Given the description of an element on the screen output the (x, y) to click on. 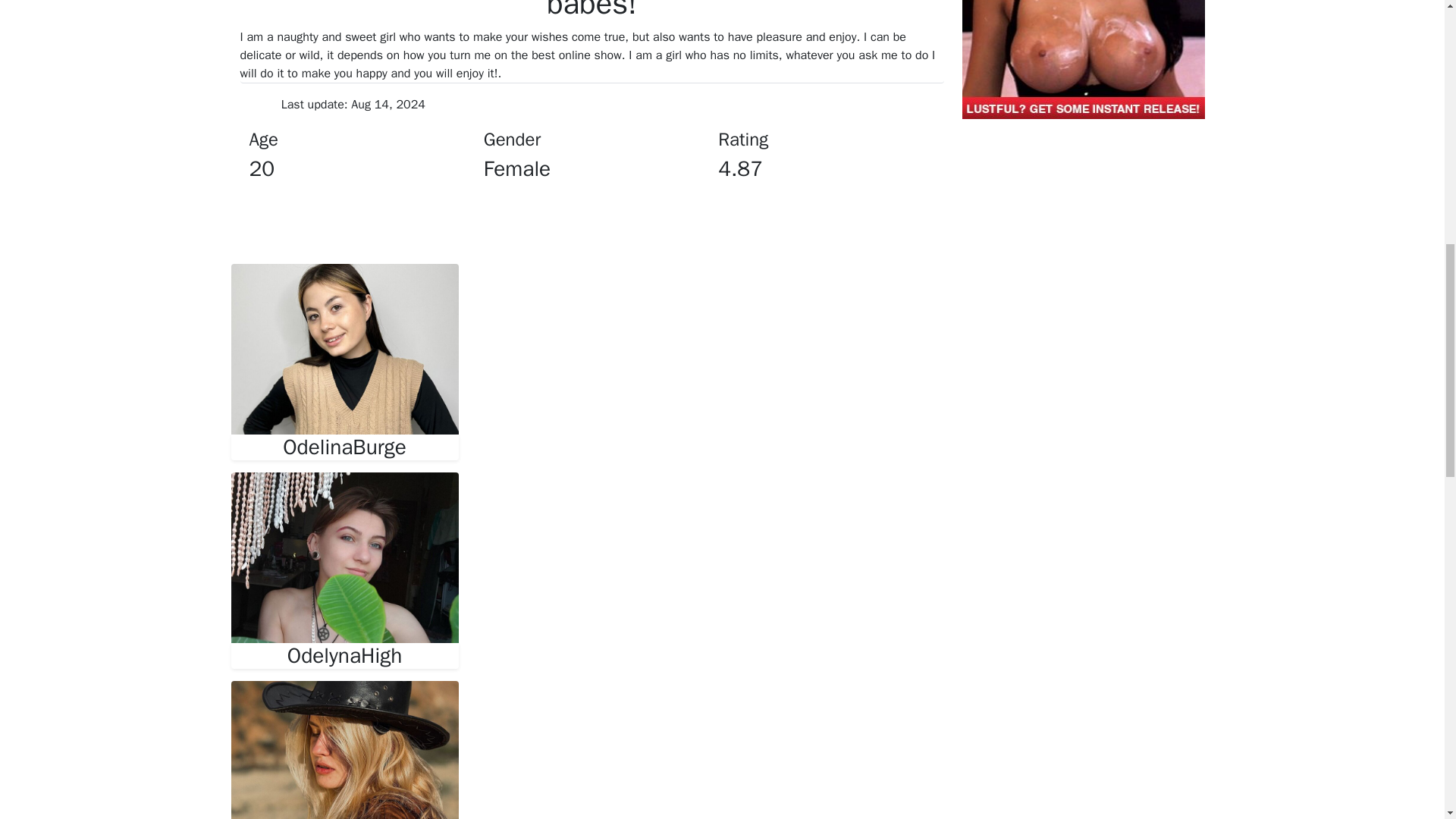
Webcam Nude Show (344, 348)
OdelynaHigh (344, 655)
Webcam Nude Show (344, 655)
OdelinaBurge (344, 447)
Webcam Nude Show (344, 447)
Webcam Nude Show (344, 556)
